Given the description of an element on the screen output the (x, y) to click on. 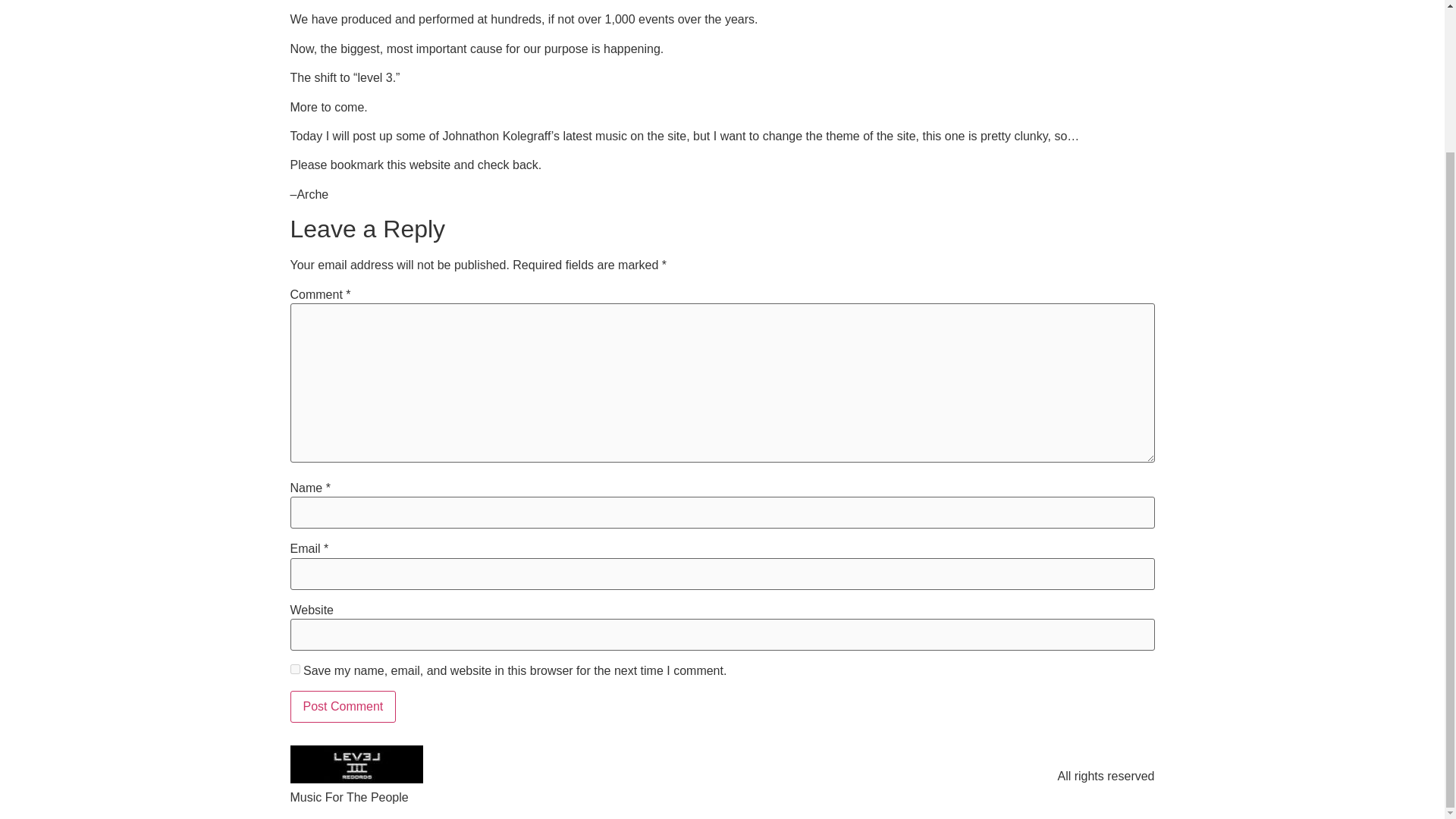
yes (294, 669)
Post Comment (342, 706)
Post Comment (342, 706)
